Given the description of an element on the screen output the (x, y) to click on. 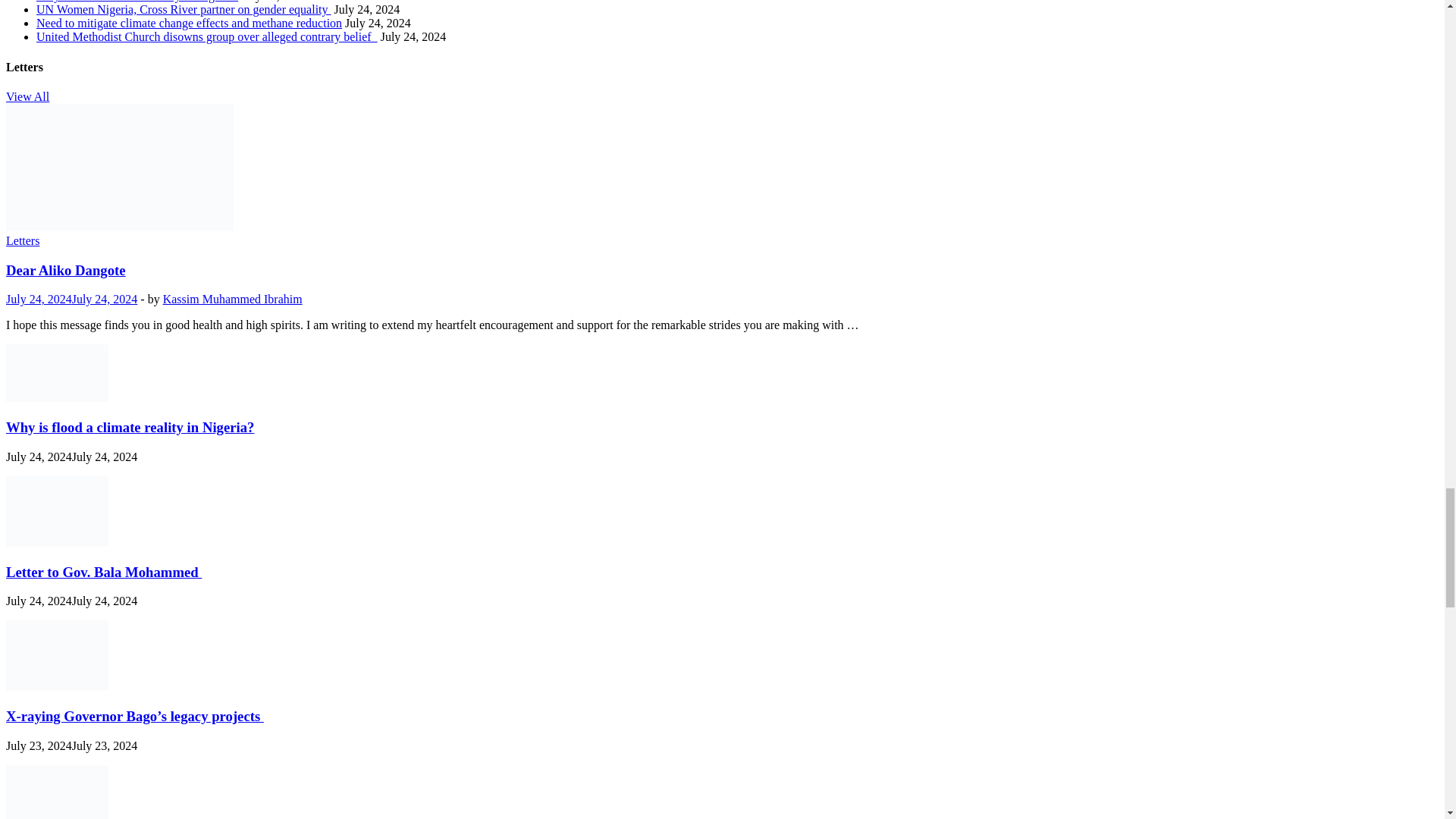
Why is flood a climate reality in Nigeria? (56, 397)
Dear Aliko Dangote (118, 226)
